Given the description of an element on the screen output the (x, y) to click on. 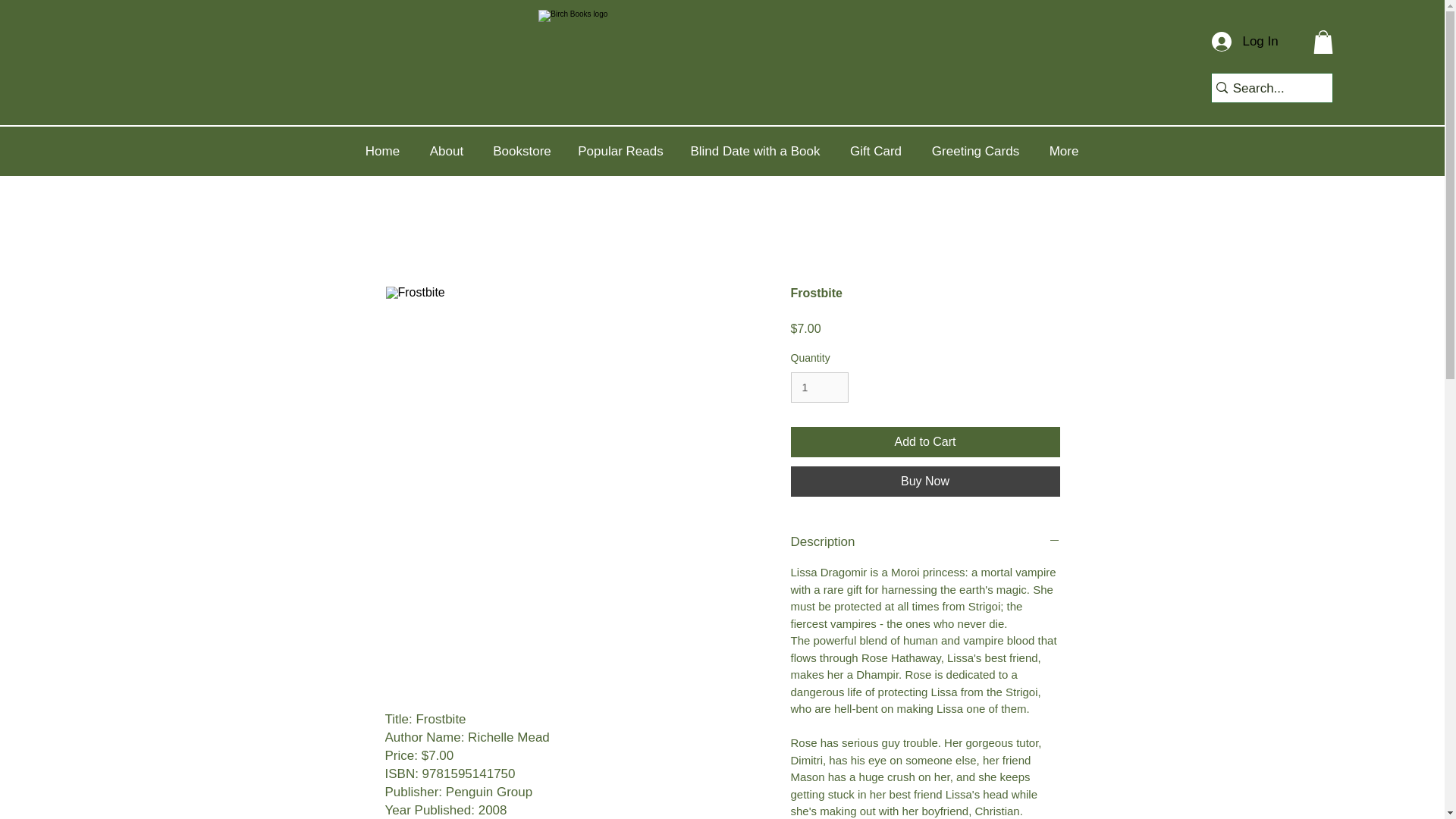
Popular Reads (621, 151)
About (446, 151)
Add to Cart (924, 441)
Bookstore (522, 151)
Home (381, 151)
Gift Card (875, 151)
Log In (1237, 41)
Greeting Cards (975, 151)
Buy Now (924, 481)
1 (818, 387)
